Given the description of an element on the screen output the (x, y) to click on. 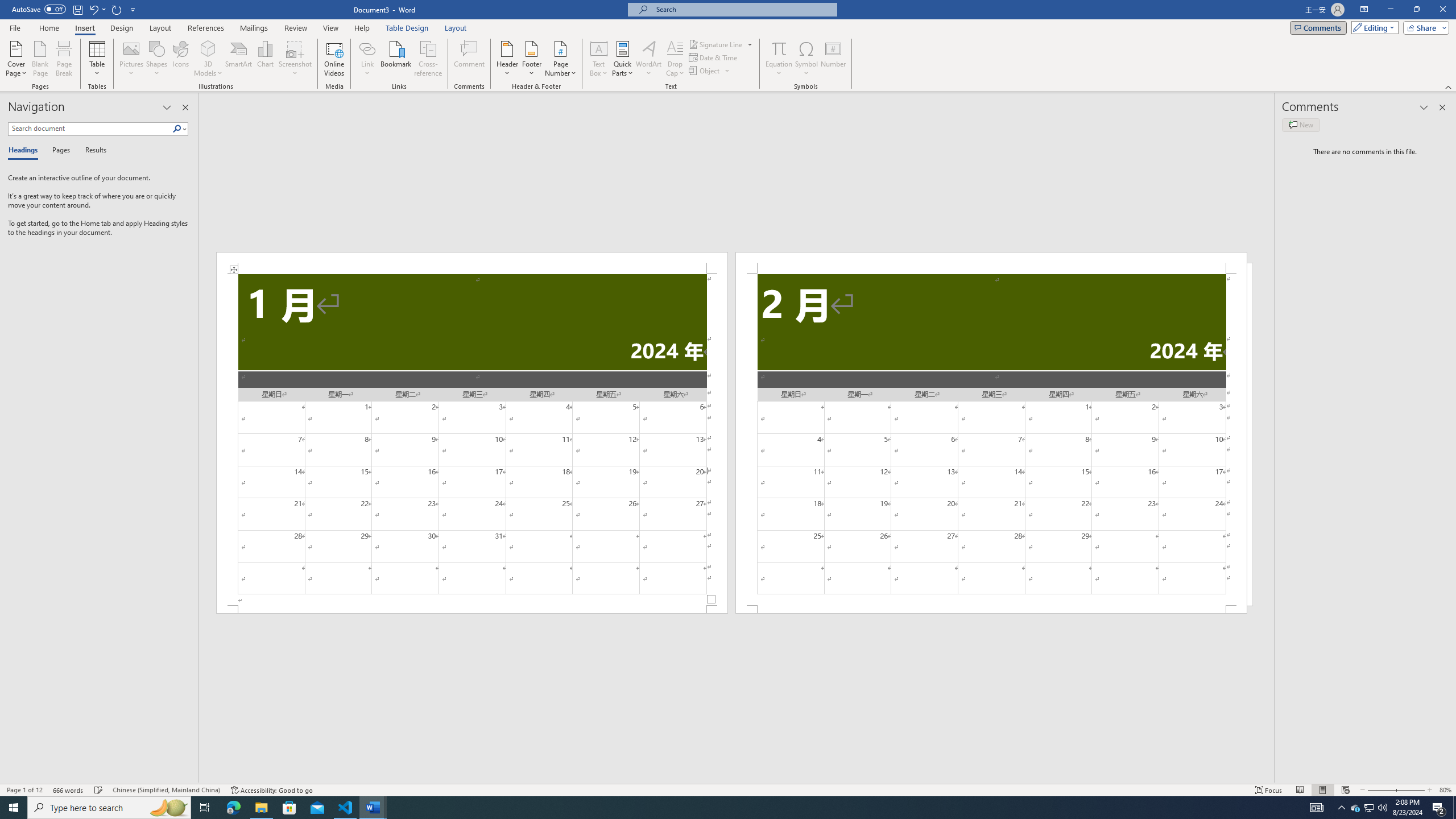
View (330, 28)
Footer -Section 1- (471, 609)
Equation (778, 58)
Screenshot (295, 58)
Search (177, 128)
Home (48, 28)
Ribbon Display Options (1364, 9)
Undo Increase Indent (92, 9)
Collapse the Ribbon (1448, 86)
Table Design (407, 28)
Online Videos... (333, 58)
Cross-reference... (428, 58)
Search document (89, 128)
Text Box (598, 58)
